Given the description of an element on the screen output the (x, y) to click on. 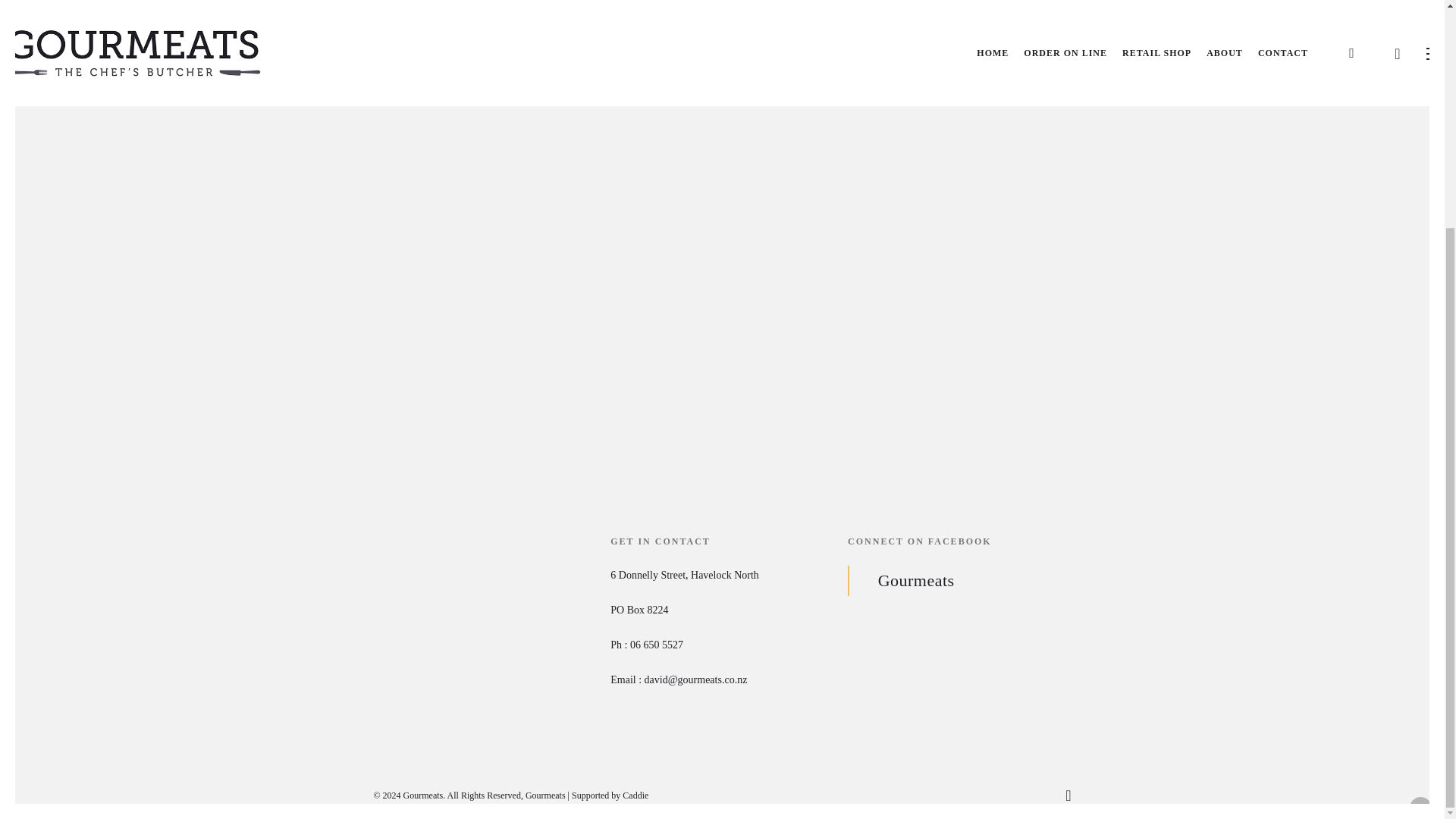
Gourmeats (916, 579)
Supported by Caddie (609, 795)
Call via Hangouts (656, 644)
06 650 5527 (656, 644)
